Given the description of an element on the screen output the (x, y) to click on. 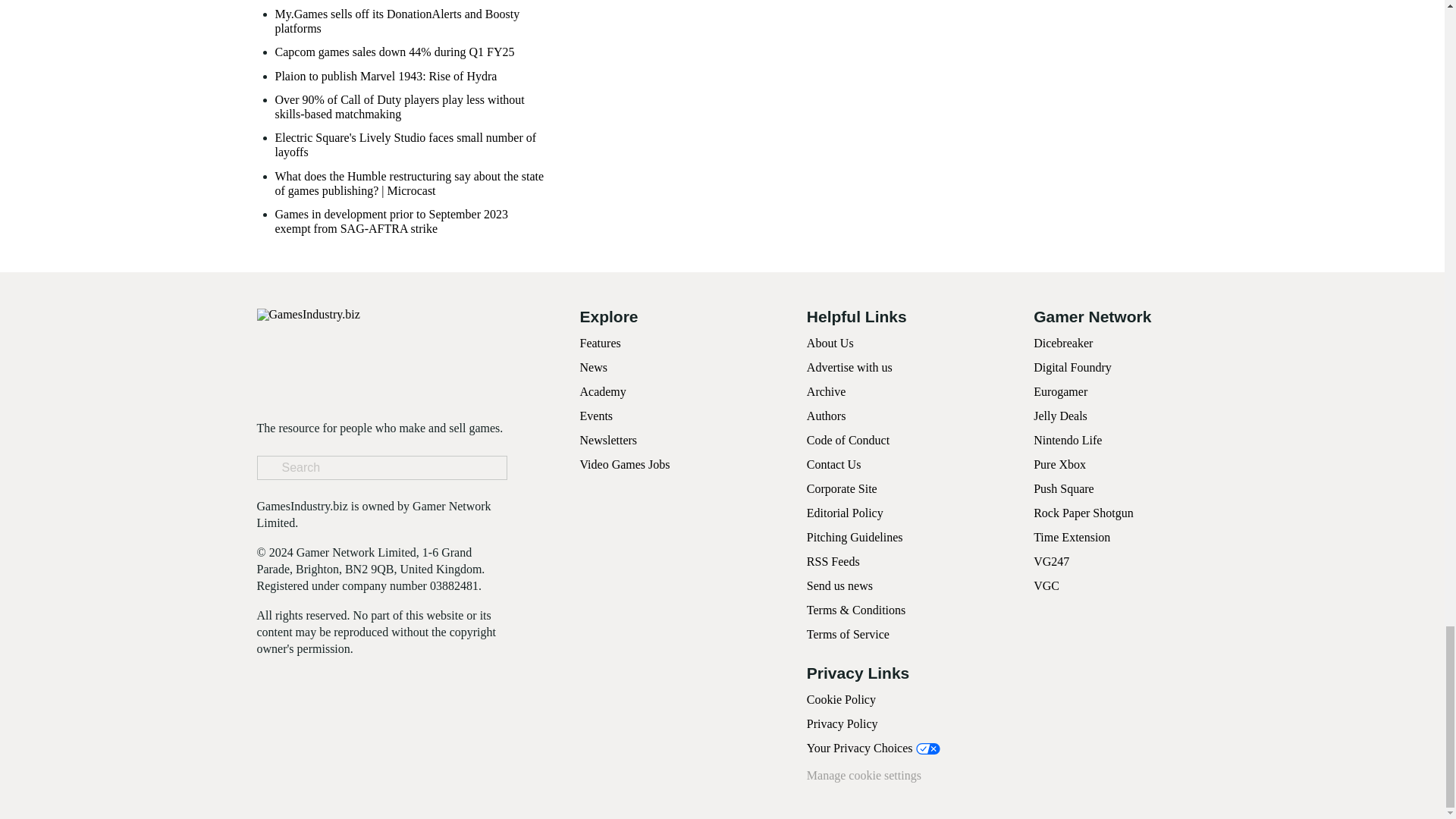
Video Games Jobs (624, 463)
Academy (602, 391)
News (593, 367)
Newsletters (608, 440)
Advertise with us (849, 367)
About Us (829, 342)
Events (595, 415)
Plaion to publish Marvel 1943: Rise of Hydra (385, 75)
Archive (825, 391)
My.Games sells off its DonationAlerts and Boosty platforms (409, 21)
Features (599, 342)
